Given the description of an element on the screen output the (x, y) to click on. 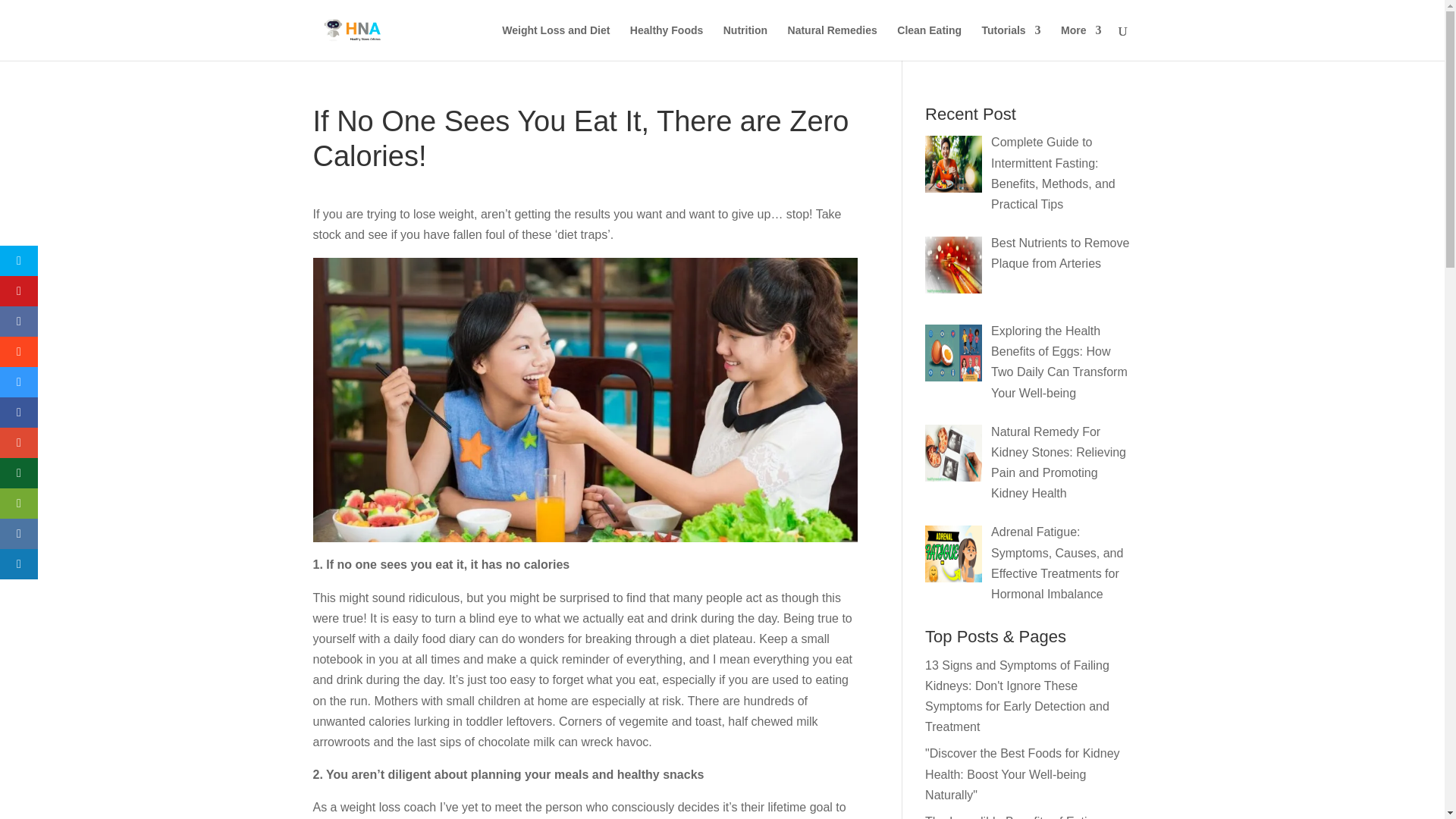
Natural Remedies (832, 42)
Tutorials (1011, 42)
Clean Eating (928, 42)
Nutrition (745, 42)
More (1080, 42)
Weight Loss and Diet (556, 42)
Best Nutrients to Remove Plaque from Arteries (952, 264)
Best Nutrients to Remove Plaque from Arteries (1060, 253)
